Given the description of an element on the screen output the (x, y) to click on. 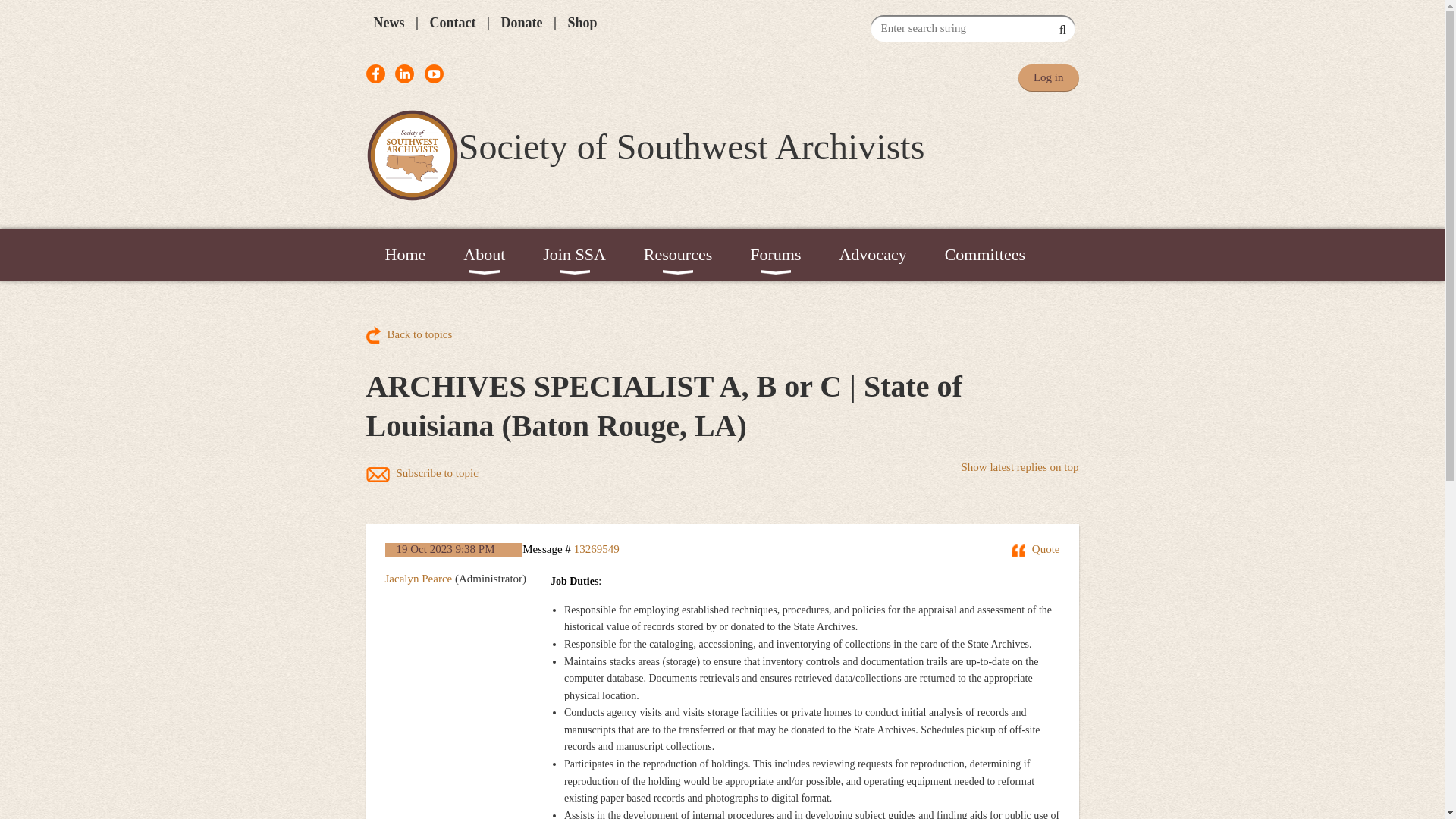
Log in (1047, 77)
About (484, 254)
Home (404, 254)
Contact (452, 23)
Committees (984, 254)
Donate (520, 23)
Resources (677, 254)
YouTube (434, 73)
News (388, 23)
News (388, 23)
Subscribe to topic (421, 474)
Facebook (374, 73)
Advocacy (871, 254)
Forums (774, 254)
Join SSA (574, 254)
